Given the description of an element on the screen output the (x, y) to click on. 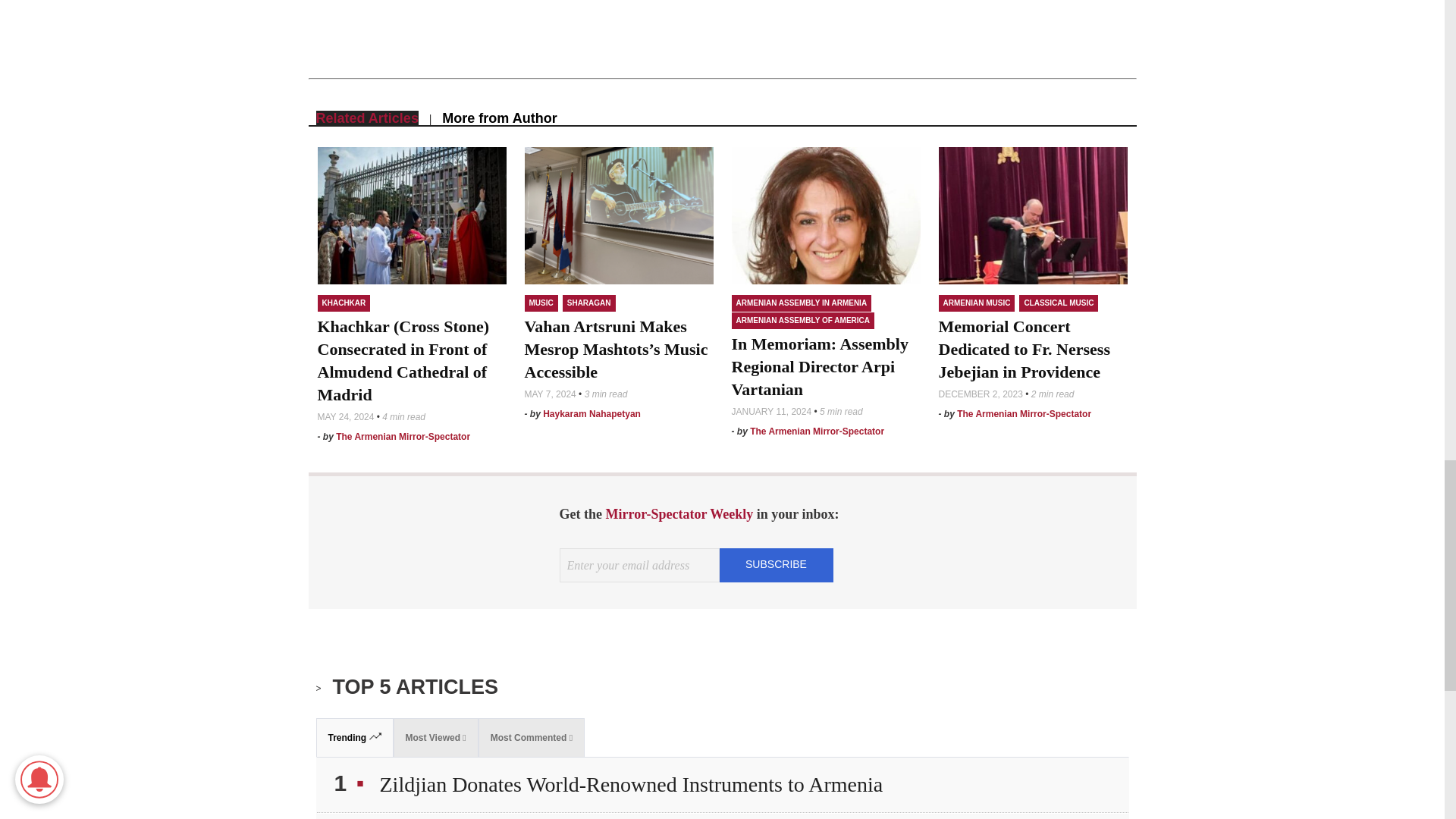
In Memoriam: Assembly Regional Director Arpi Vartanian (825, 215)
SUBSCRIBE (775, 563)
In Memoriam: Assembly Regional Director Arpi Vartanian (818, 366)
